Given the description of an element on the screen output the (x, y) to click on. 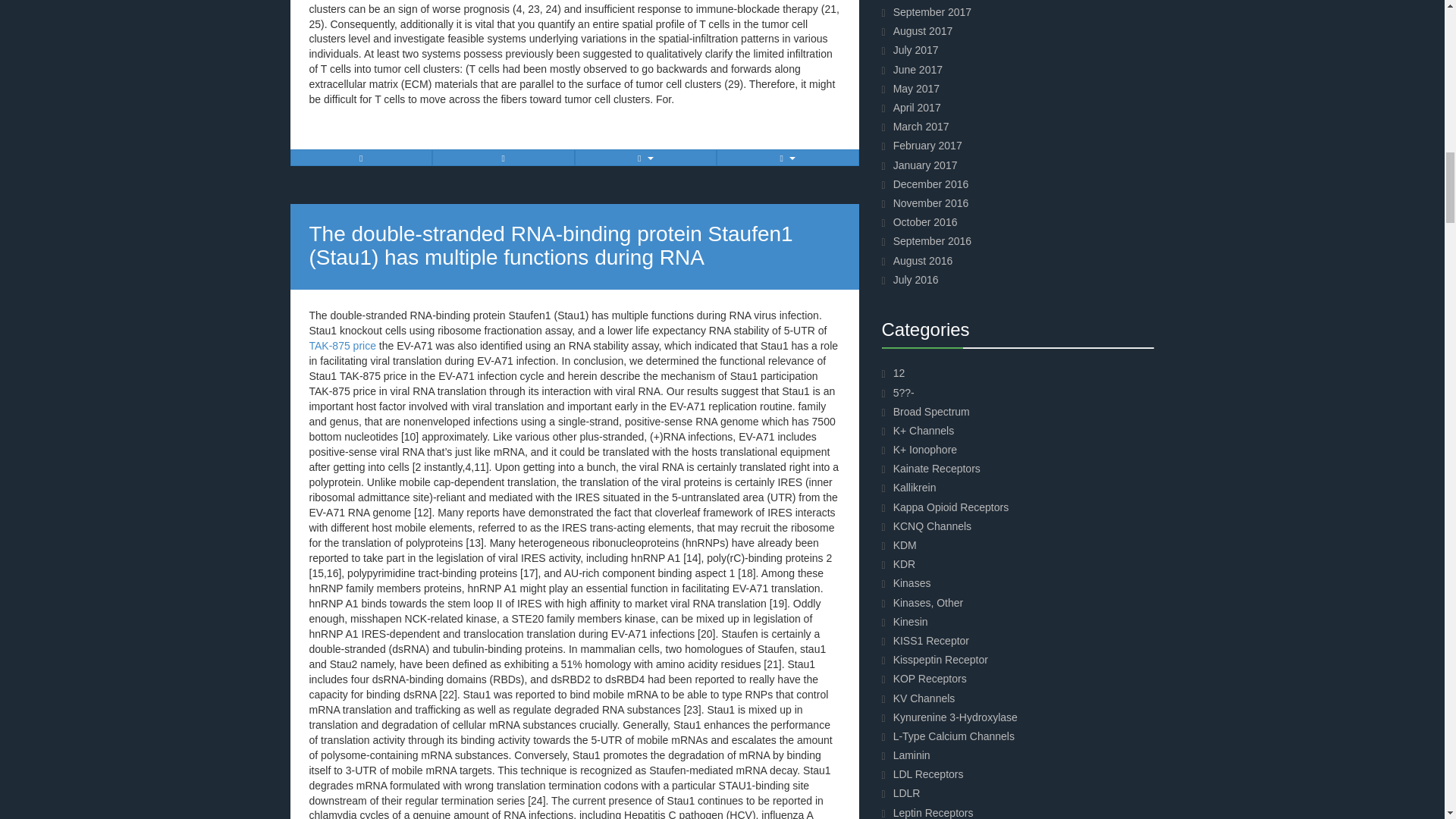
TAK-875 price (341, 345)
